Given the description of an element on the screen output the (x, y) to click on. 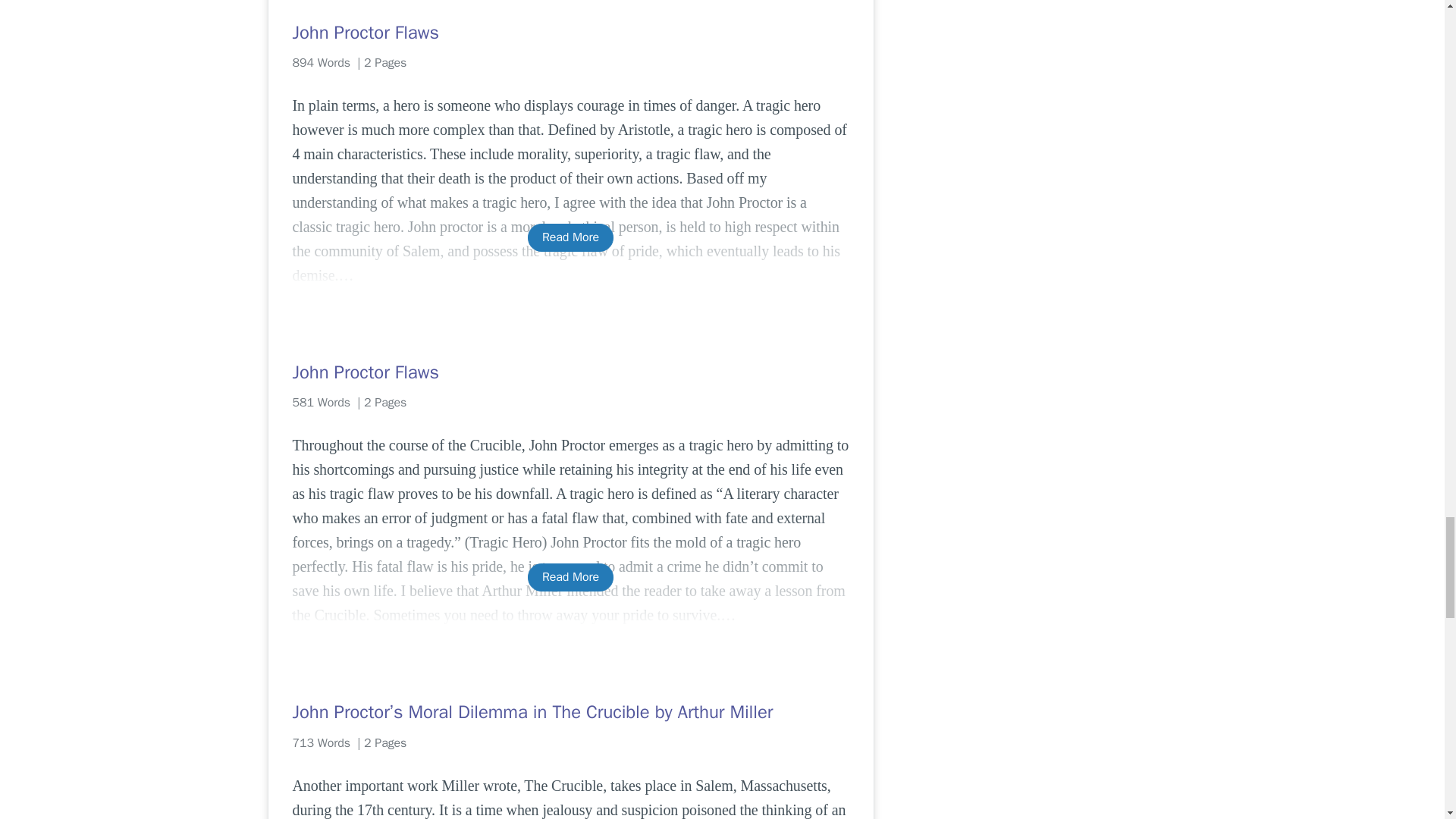
John Proctor Flaws (570, 372)
Read More (569, 237)
Read More (569, 577)
John Proctor Flaws (570, 32)
